Given the description of an element on the screen output the (x, y) to click on. 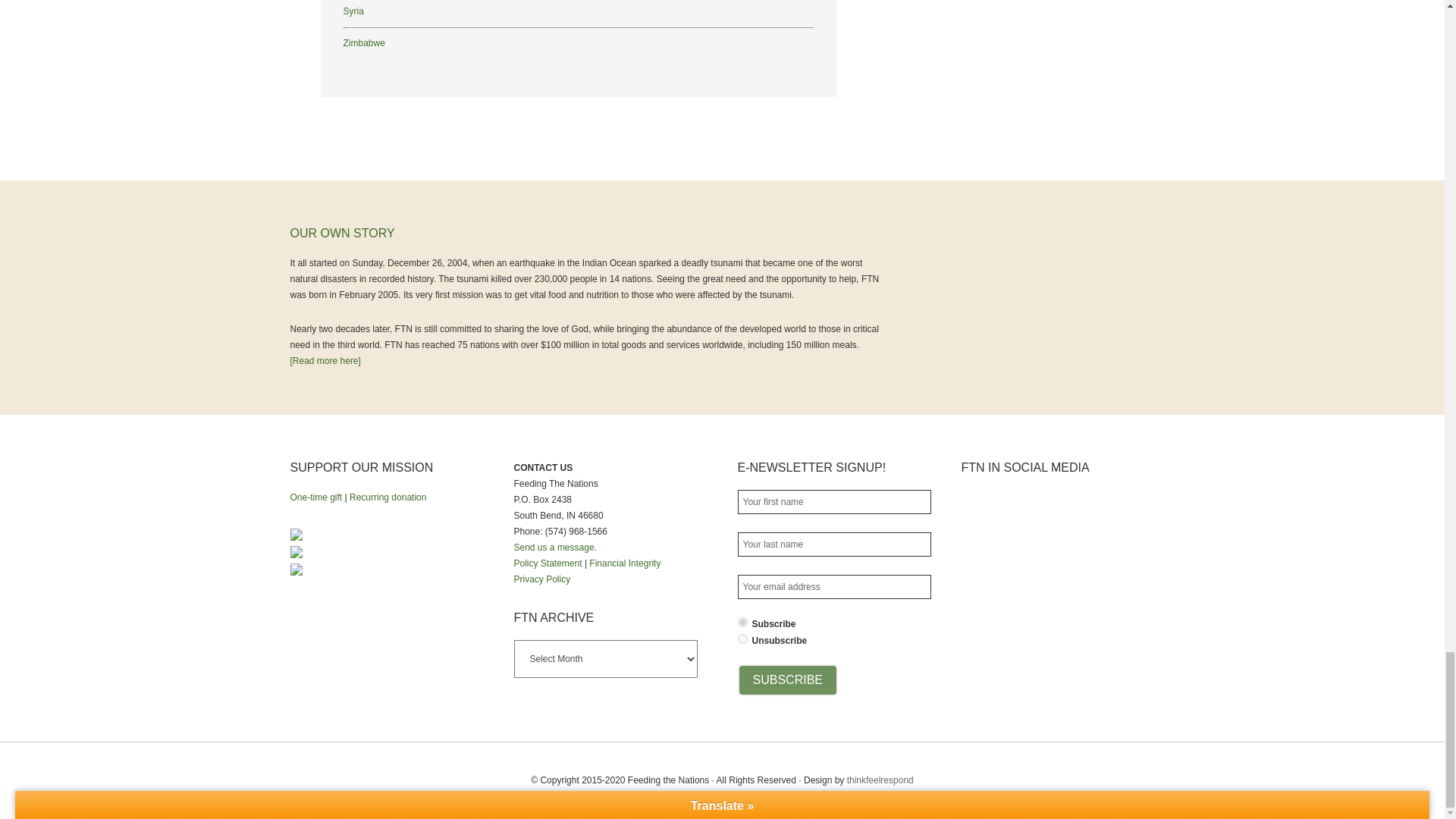
subscribe (741, 622)
unsubscribe (741, 638)
Subscribe (786, 680)
